Given the description of an element on the screen output the (x, y) to click on. 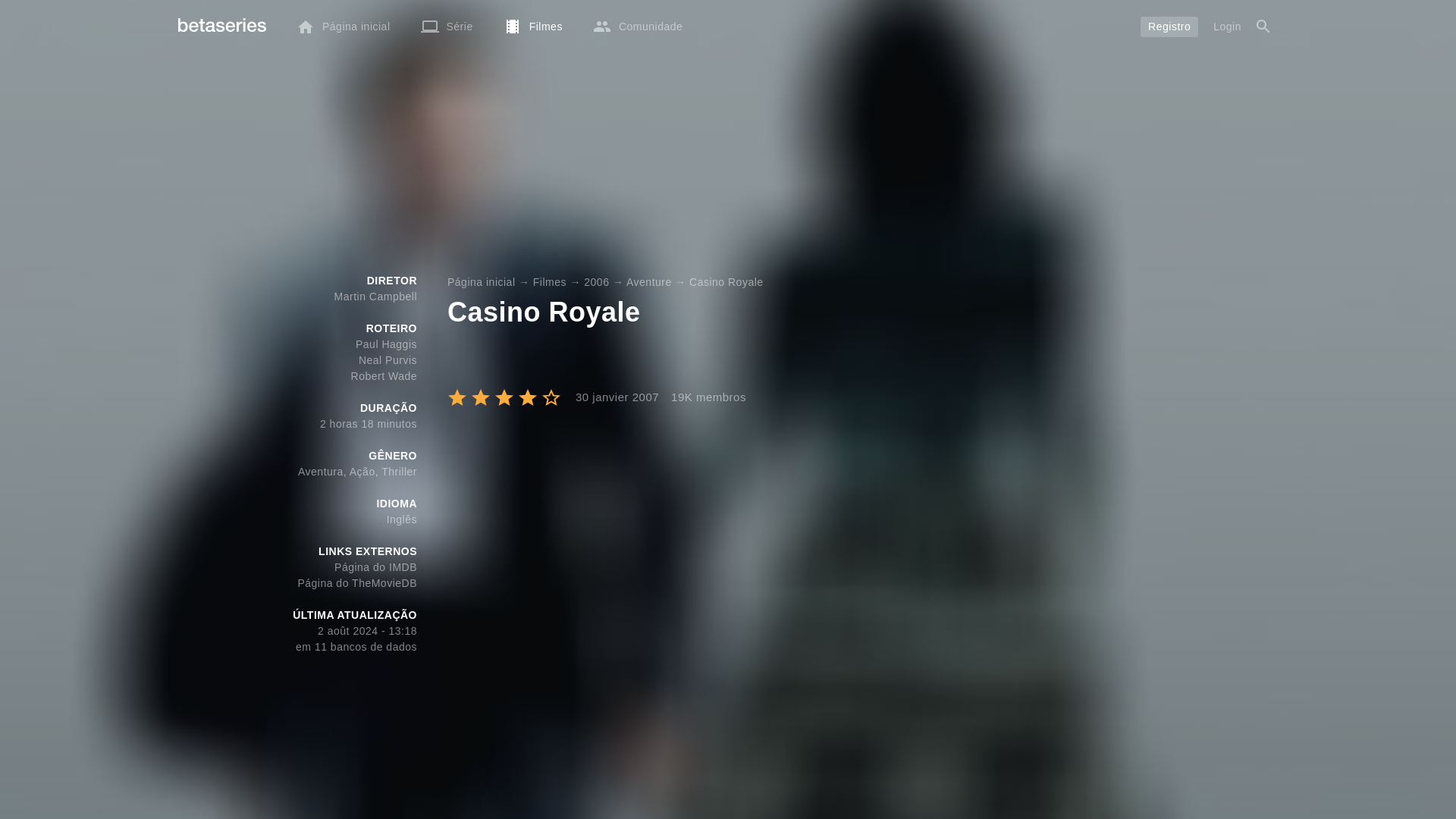
Filmes (532, 26)
Filmes (549, 282)
Neal Purvis (387, 359)
2006 (595, 282)
Login (1227, 26)
Robert Wade (383, 376)
Paul Haggis (385, 344)
Casino Royale (725, 282)
Aventure (648, 282)
Martin Campbell (375, 296)
19 965 membros (702, 397)
Registro (1169, 26)
Comunidade (637, 26)
